Given the description of an element on the screen output the (x, y) to click on. 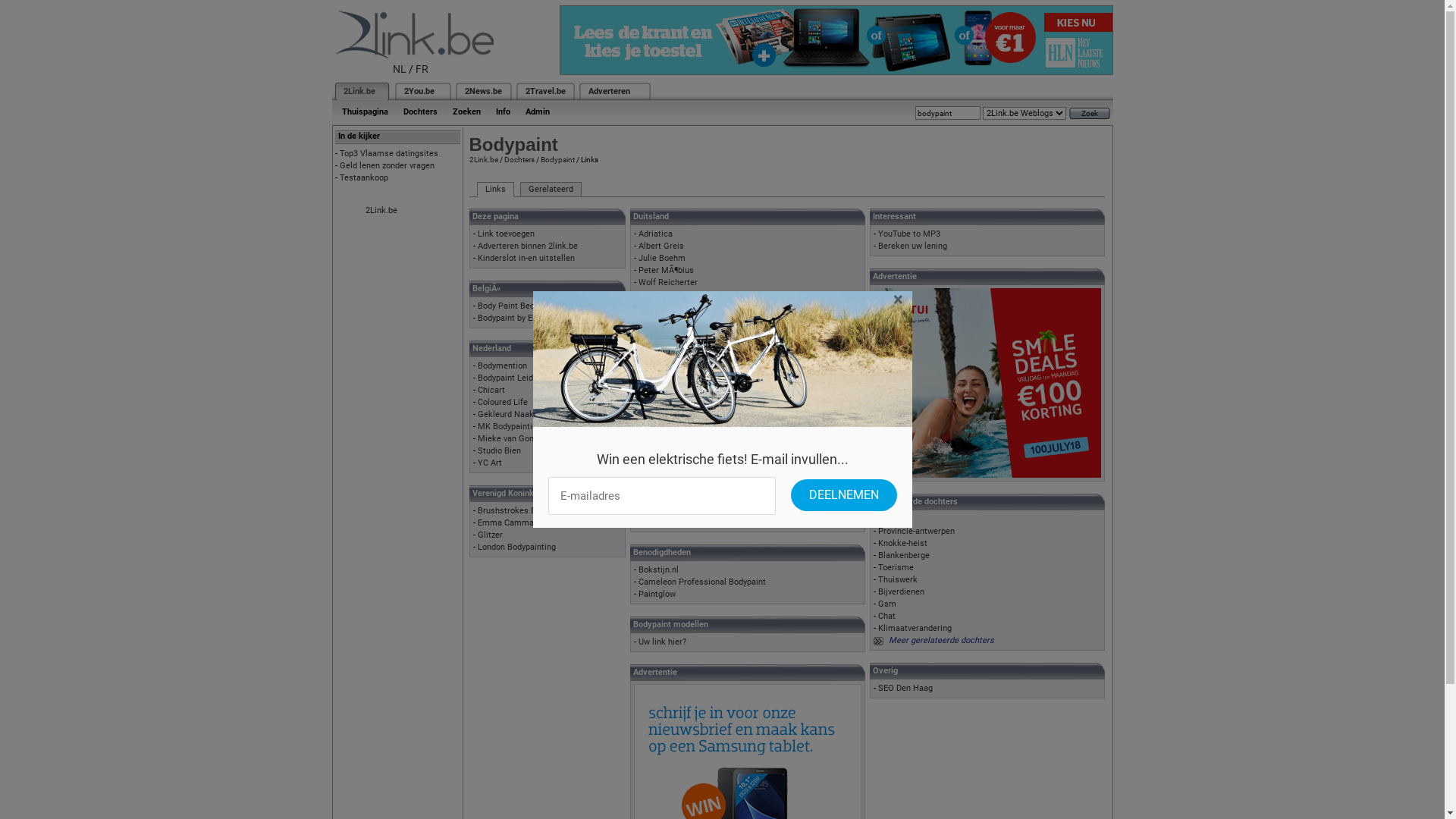
Gekleurd Naakt Element type: text (506, 414)
Gerelateerd Element type: text (550, 189)
Bodypaint by Ellen Element type: text (511, 318)
Links Element type: text (494, 189)
Emma Hack Element type: text (661, 509)
Albert Greis Element type: text (661, 246)
2Travel.be Element type: text (544, 91)
Les Pygmalions Element type: text (668, 462)
Brushstrokes Bodyart Element type: text (518, 510)
Thuiswerk Element type: text (897, 579)
YouTube to MP3 Element type: text (909, 233)
NL Element type: text (399, 68)
Knokke-heist Element type: text (902, 543)
Adriatica Element type: text (655, 233)
Emma Cammack Element type: text (509, 522)
Chat Element type: text (886, 616)
Glitzer Element type: text (489, 534)
MK Bodypainting Element type: text (509, 426)
Mieke van Gompel Element type: text (512, 438)
2You.be Element type: text (418, 91)
Body Paint Become Art Element type: text (520, 305)
Testaankoop Element type: text (363, 177)
Studio Bien Element type: text (498, 450)
Laurita Mazapan Element type: text (669, 330)
Geld lenen zonder vragen Element type: text (386, 165)
Dochters Element type: text (420, 111)
Bereken uw lening Element type: text (912, 246)
2Link.be Element type: text (358, 91)
Dochters Element type: text (518, 159)
Bodypaint Leiden Element type: text (509, 377)
Bijverdienen Element type: text (901, 591)
Living Brush Element type: text (661, 390)
YC Art Element type: text (489, 462)
Zoek Element type: text (1089, 113)
Link toevoegen Element type: text (505, 233)
Toerisme Element type: text (895, 567)
Bokstijn.nl Element type: text (658, 569)
Coloured Life Element type: text (502, 402)
Paintglow Element type: text (656, 594)
Cameleon Professional Bodypaint Element type: text (701, 581)
Chicart Element type: text (491, 390)
Bodypaint Element type: text (556, 159)
Roustan Body Paint Element type: text (675, 402)
Admin Element type: text (536, 111)
Blankenberge Element type: text (903, 555)
Thuispagina Element type: text (364, 111)
FR Element type: text (421, 68)
Info Element type: text (502, 111)
Julie Boehm Element type: text (661, 258)
Top3 Vlaamse datingsites Element type: text (388, 153)
Zoeken Element type: text (465, 111)
Uw link hier? Element type: text (662, 641)
2Link.be Element type: text (482, 159)
Gsm Element type: text (887, 603)
Face Magic Element type: text (660, 522)
Adverteren Element type: text (609, 91)
2News.be Element type: text (482, 91)
Airballin Element type: text (653, 377)
Klimaatverandering Element type: text (914, 628)
SEO Den Haag Element type: text (905, 688)
London Bodypainting Element type: text (516, 547)
Film Element type: text (886, 519)
Meer gerelateerde dochters Element type: text (941, 640)
Kinderslot in-en uitstellen Element type: text (525, 258)
Adverteren binnen 2link.be Element type: text (527, 246)
2Link.be Element type: text (381, 210)
Bodymention Element type: text (502, 365)
Wolf Reicherter Element type: text (667, 282)
Sarah Paints People Element type: text (676, 414)
Provincie-antwerpen Element type: text (916, 531)
